Given the description of an element on the screen output the (x, y) to click on. 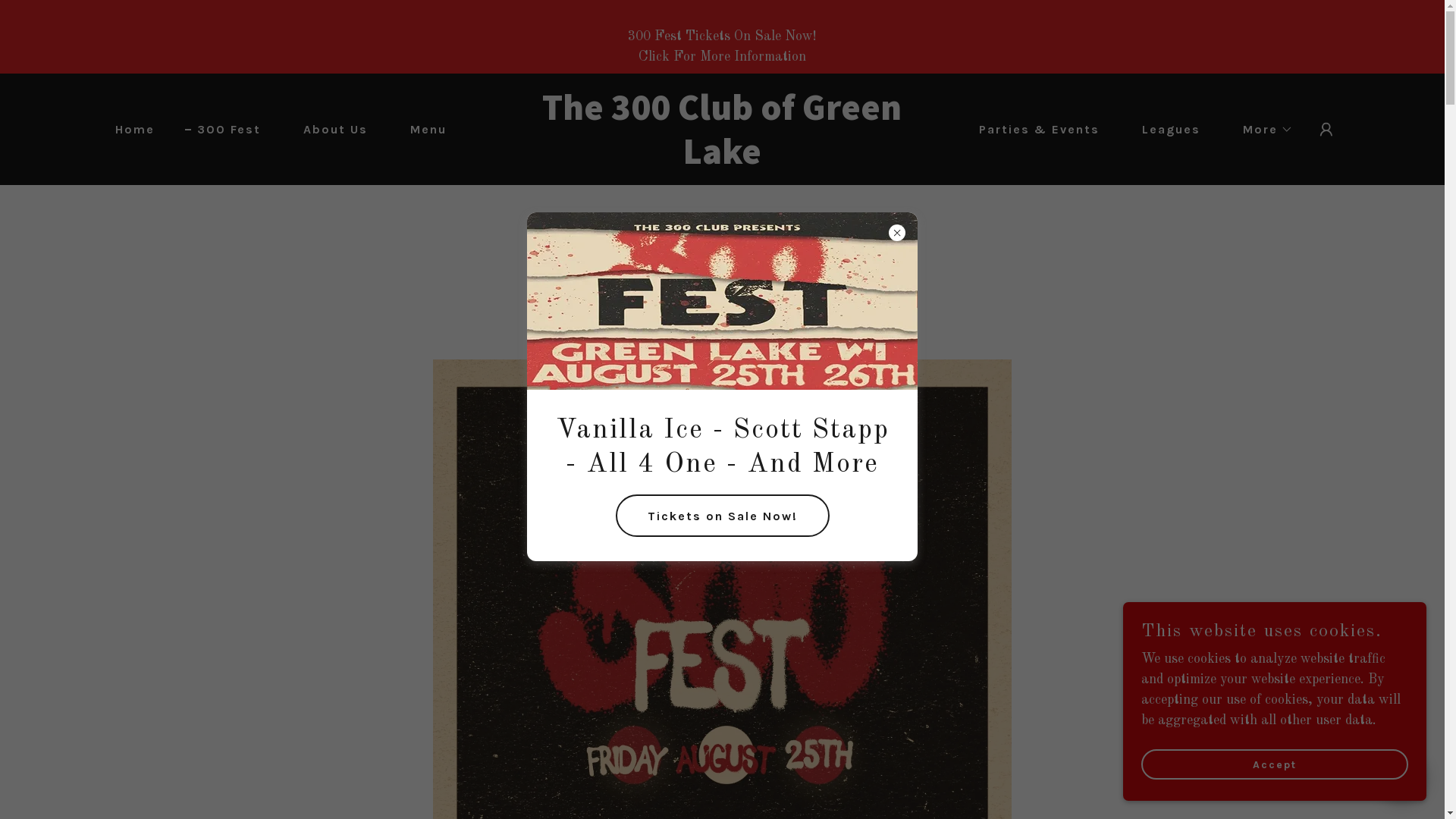
Accept Element type: text (1274, 764)
Parties & Events Element type: text (1033, 129)
300 Fest Tickets On Sale Now!
Click For More Information Element type: text (722, 36)
About Us Element type: text (329, 129)
The 300 Club of Green Lake Element type: text (721, 159)
Leagues Element type: text (1164, 129)
Tickets on Sale Now! Element type: text (722, 515)
Home Element type: text (128, 129)
300 Fest Element type: text (222, 129)
More Element type: text (1261, 129)
Menu Element type: text (422, 129)
